Given the description of an element on the screen output the (x, y) to click on. 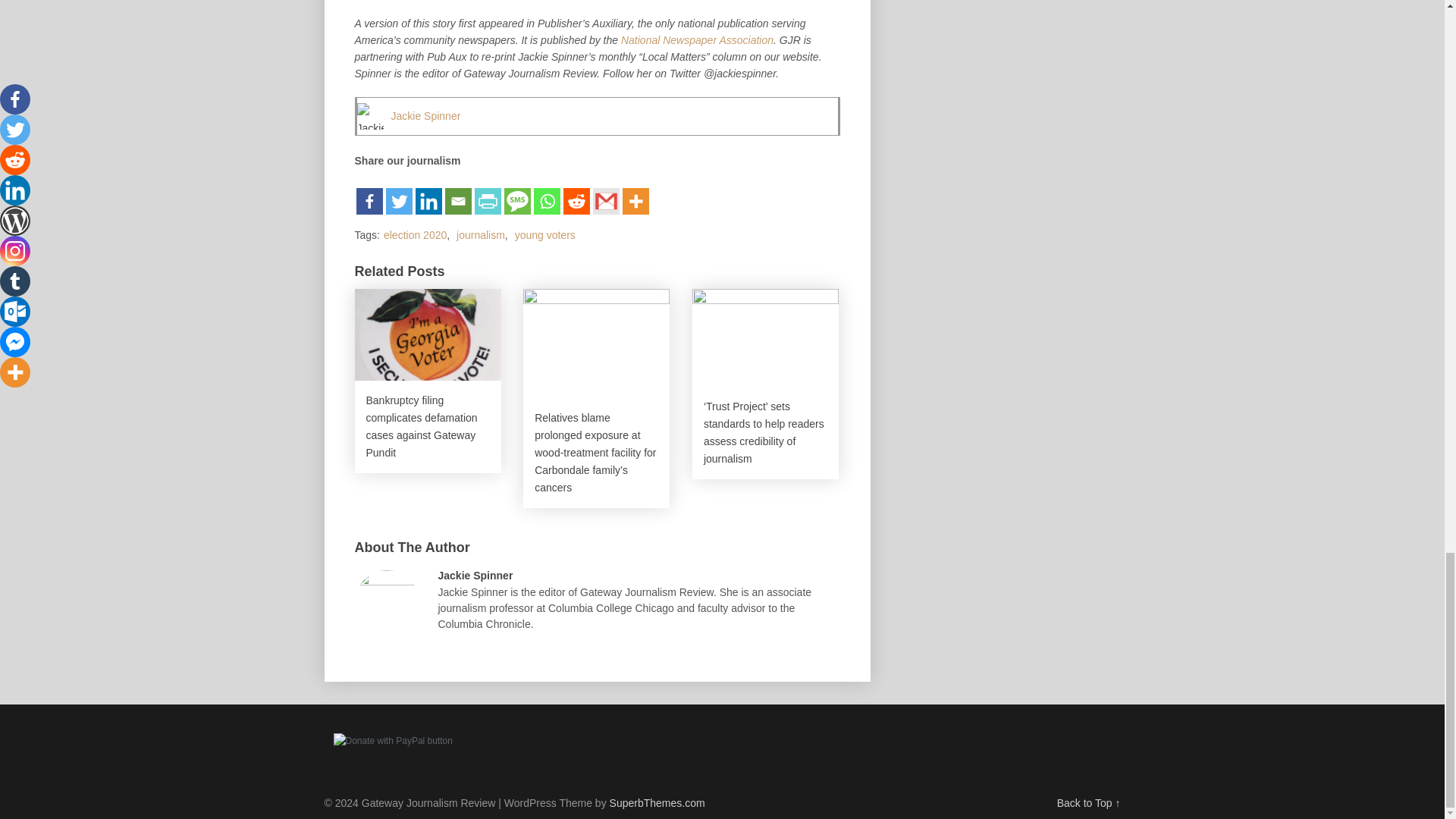
journalism (481, 234)
Jackie Spinner (426, 115)
Jackie Spinner (426, 115)
National Newspaper Association (697, 39)
election 2020 (415, 234)
